Given the description of an element on the screen output the (x, y) to click on. 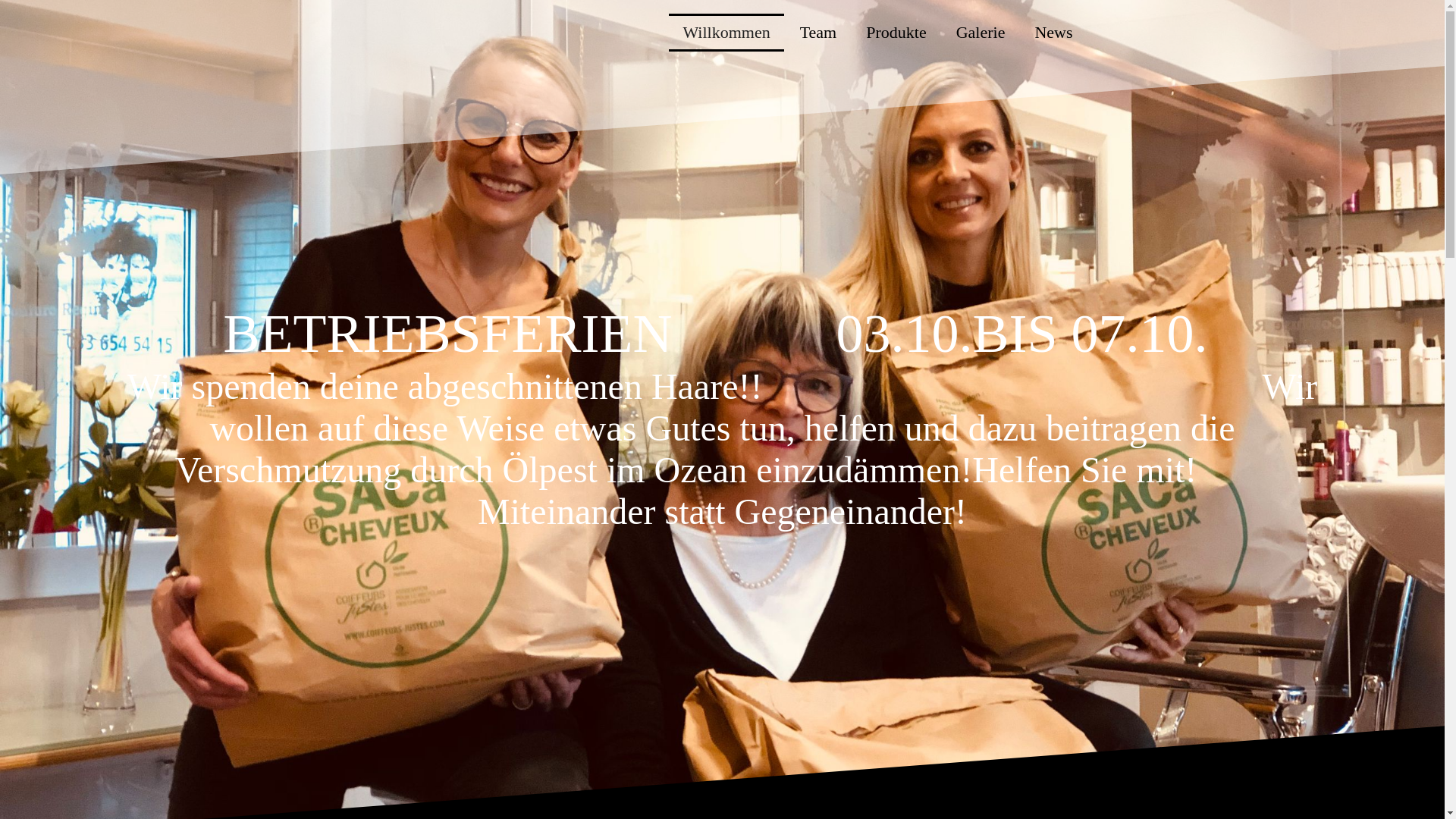
Willkommen Element type: text (725, 32)
Produkte Element type: text (895, 32)
Team Element type: text (818, 32)
News Element type: text (1052, 32)
Galerie Element type: text (980, 32)
